Given the description of an element on the screen output the (x, y) to click on. 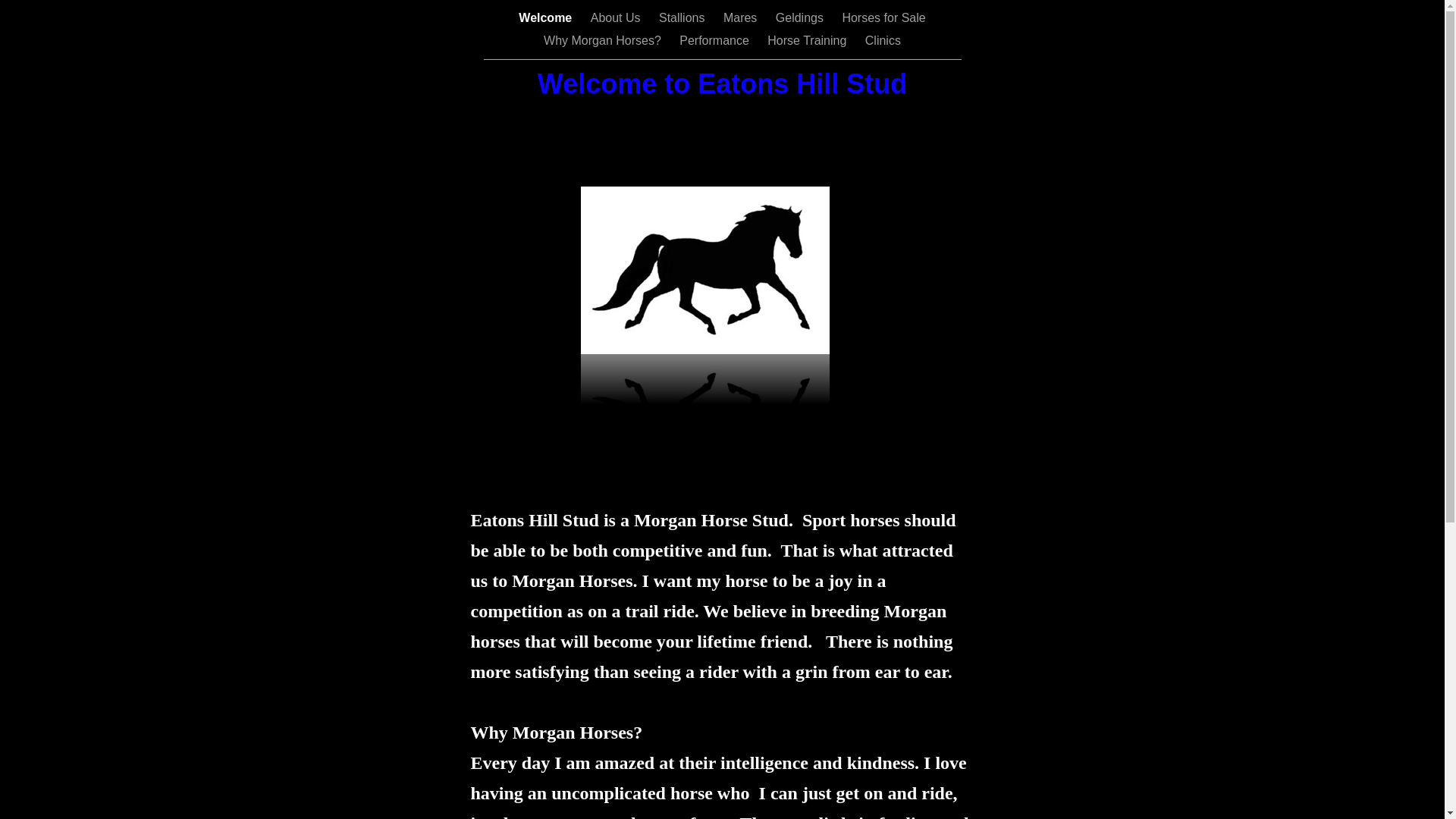
Geldings Element type: text (801, 17)
Stallions Element type: text (683, 17)
Performance Element type: text (715, 40)
Mares Element type: text (741, 17)
Why Morgan Horses? Element type: text (603, 40)
Clinics Element type: text (882, 40)
Horses for Sale Element type: text (883, 17)
Welcome Element type: text (546, 17)
About Us Element type: text (616, 17)
Horse Training Element type: text (808, 40)
Welcome_files/Manhattan_Ashleigh_Billboard.pdf Element type: hover (704, 349)
